Given the description of an element on the screen output the (x, y) to click on. 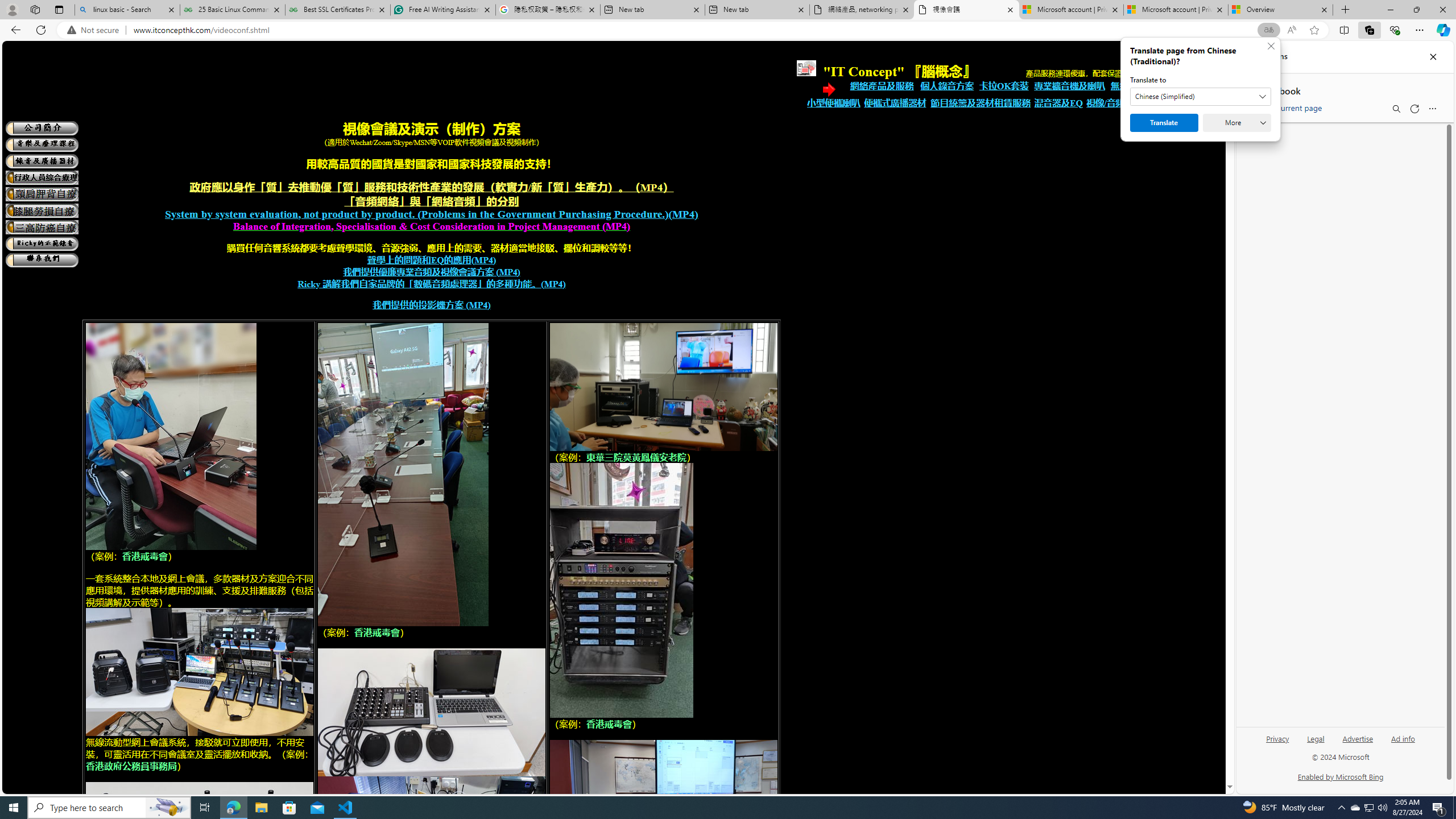
Show translate options (1268, 29)
Not secure (95, 29)
zoom meeting (431, 711)
Add current page (1286, 105)
